Given the description of an element on the screen output the (x, y) to click on. 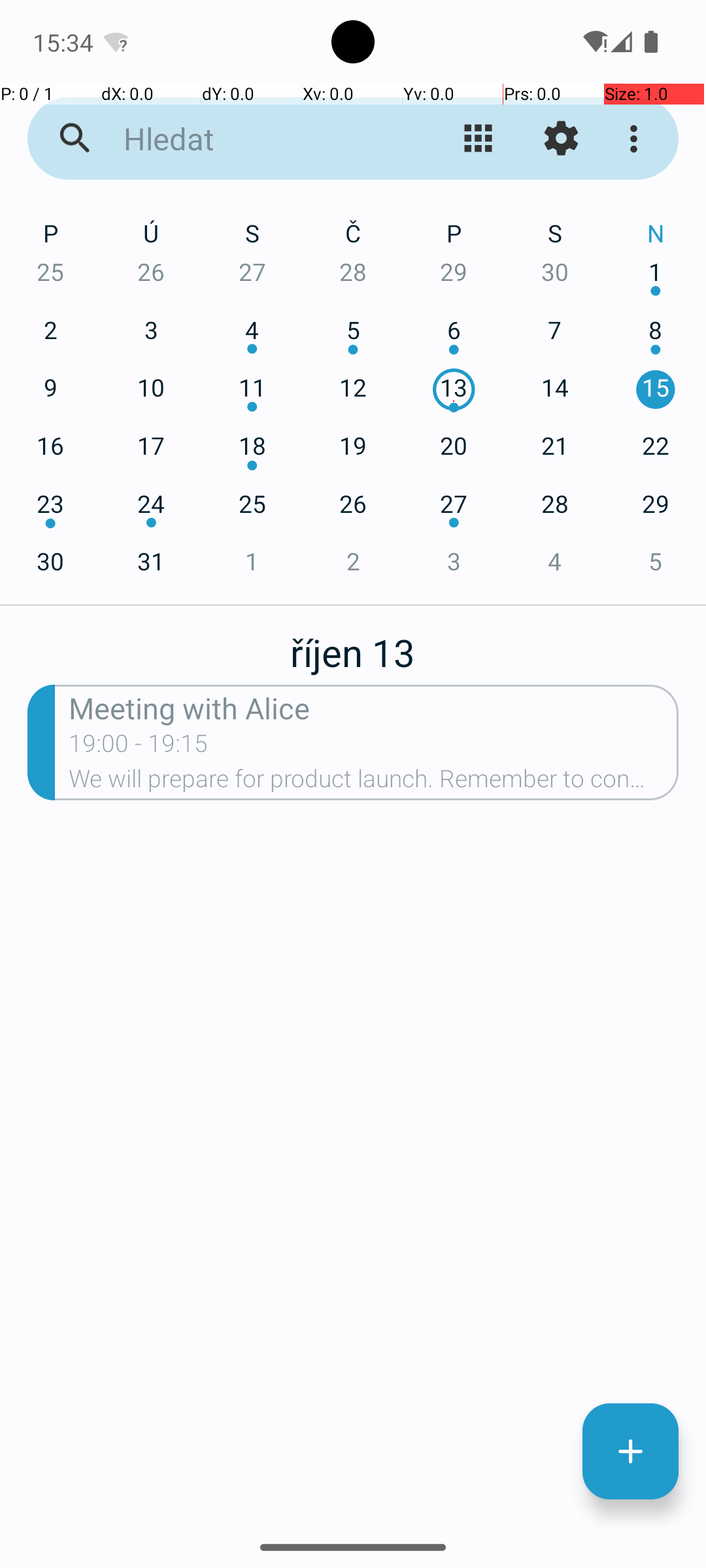
Hledat Element type: android.widget.EditText (252, 138)
Změnit zobrazení Element type: android.widget.Button (477, 138)
Nastavení Element type: android.widget.Button (560, 138)
Další možnosti Element type: android.widget.ImageView (636, 138)
Nová událost Element type: android.widget.ImageButton (630, 1451)
říjen 13 Element type: android.widget.TextView (352, 644)
19:00 - 19:15 Element type: android.widget.TextView (137, 747)
We will prepare for product launch. Remember to confirm attendance. Element type: android.widget.TextView (373, 782)
